Given the description of an element on the screen output the (x, y) to click on. 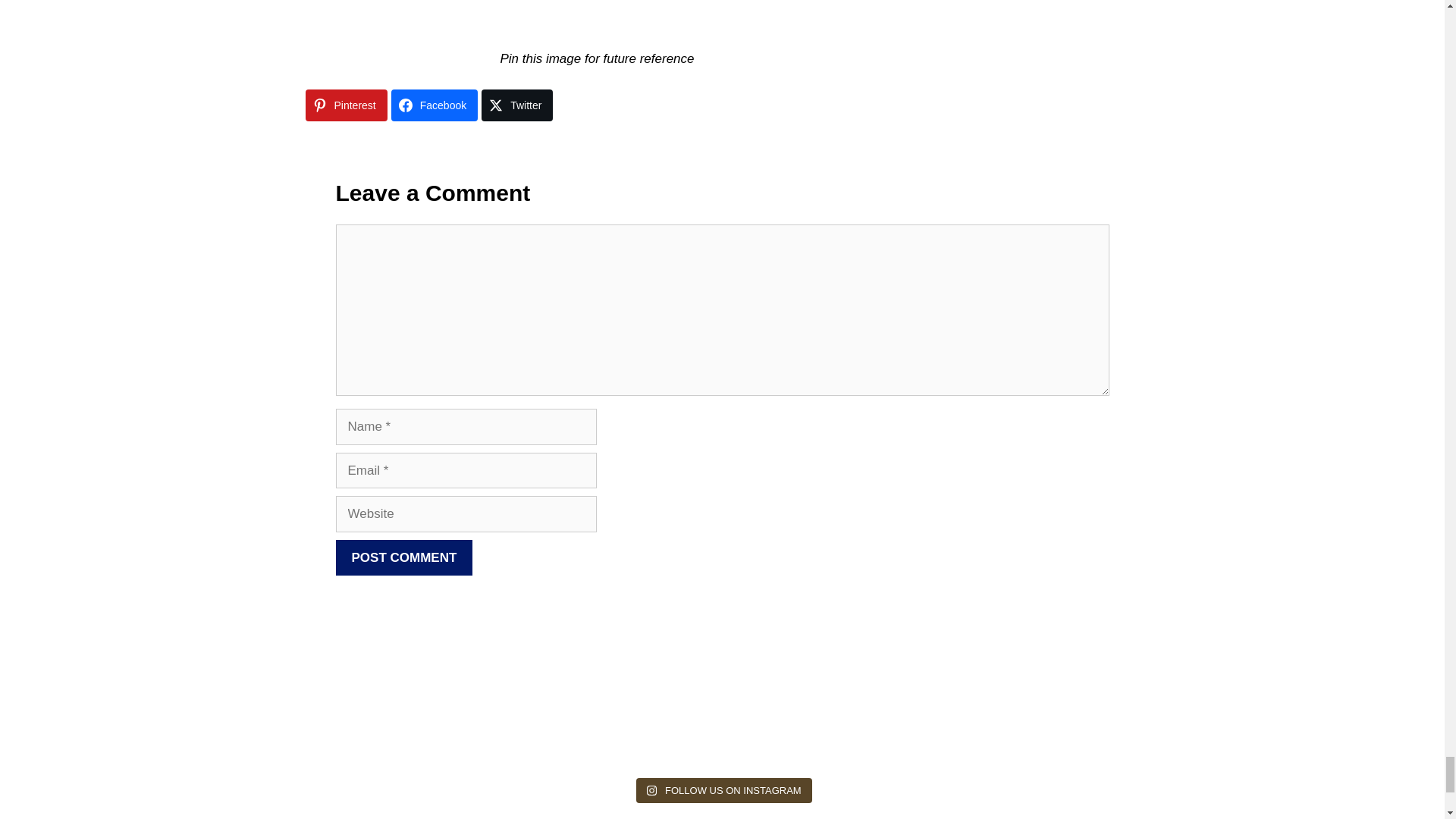
Post Comment (402, 557)
